Given the description of an element on the screen output the (x, y) to click on. 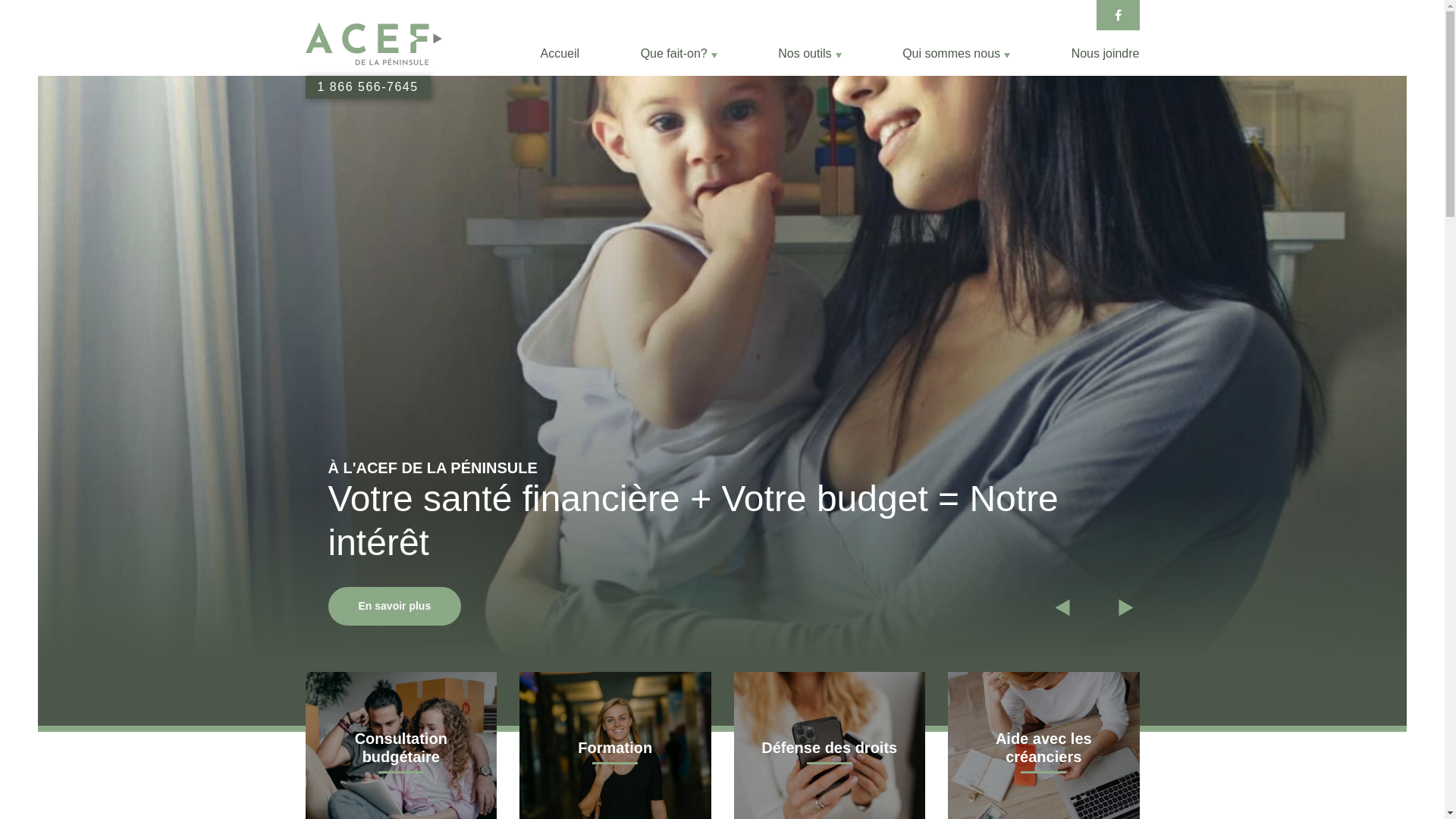
En savoir plus Element type: text (394, 605)
Qui sommes nous Element type: text (956, 52)
Accueil Element type: text (559, 52)
Que fait-on? Element type: text (678, 52)
Nous joindre Element type: text (1105, 52)
1 866 566-7645 Element type: text (366, 86)
Nos outils Element type: text (809, 52)
